Given the description of an element on the screen output the (x, y) to click on. 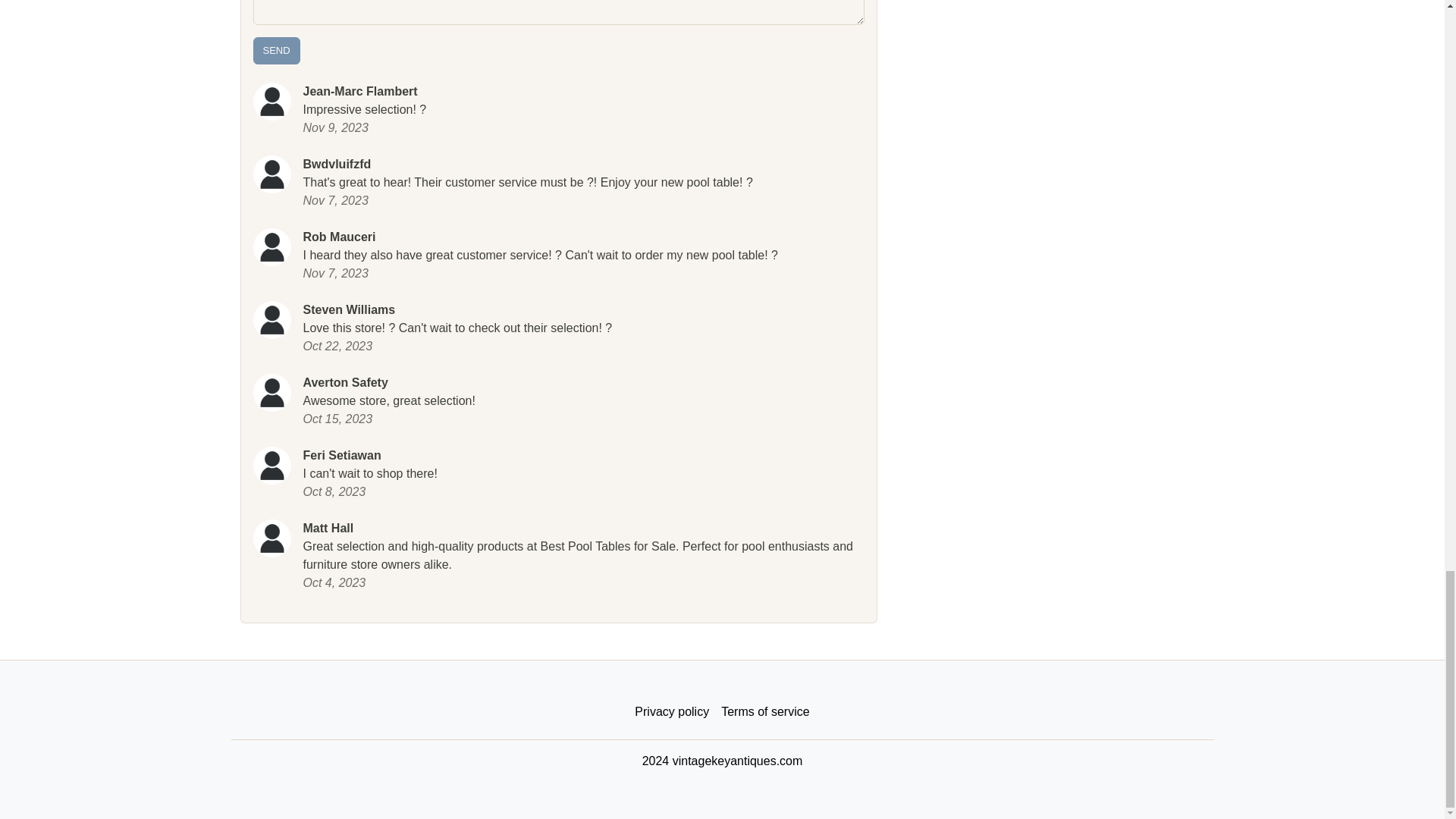
Send (276, 50)
Privacy policy (671, 711)
Terms of service (764, 711)
Send (276, 50)
